Given the description of an element on the screen output the (x, y) to click on. 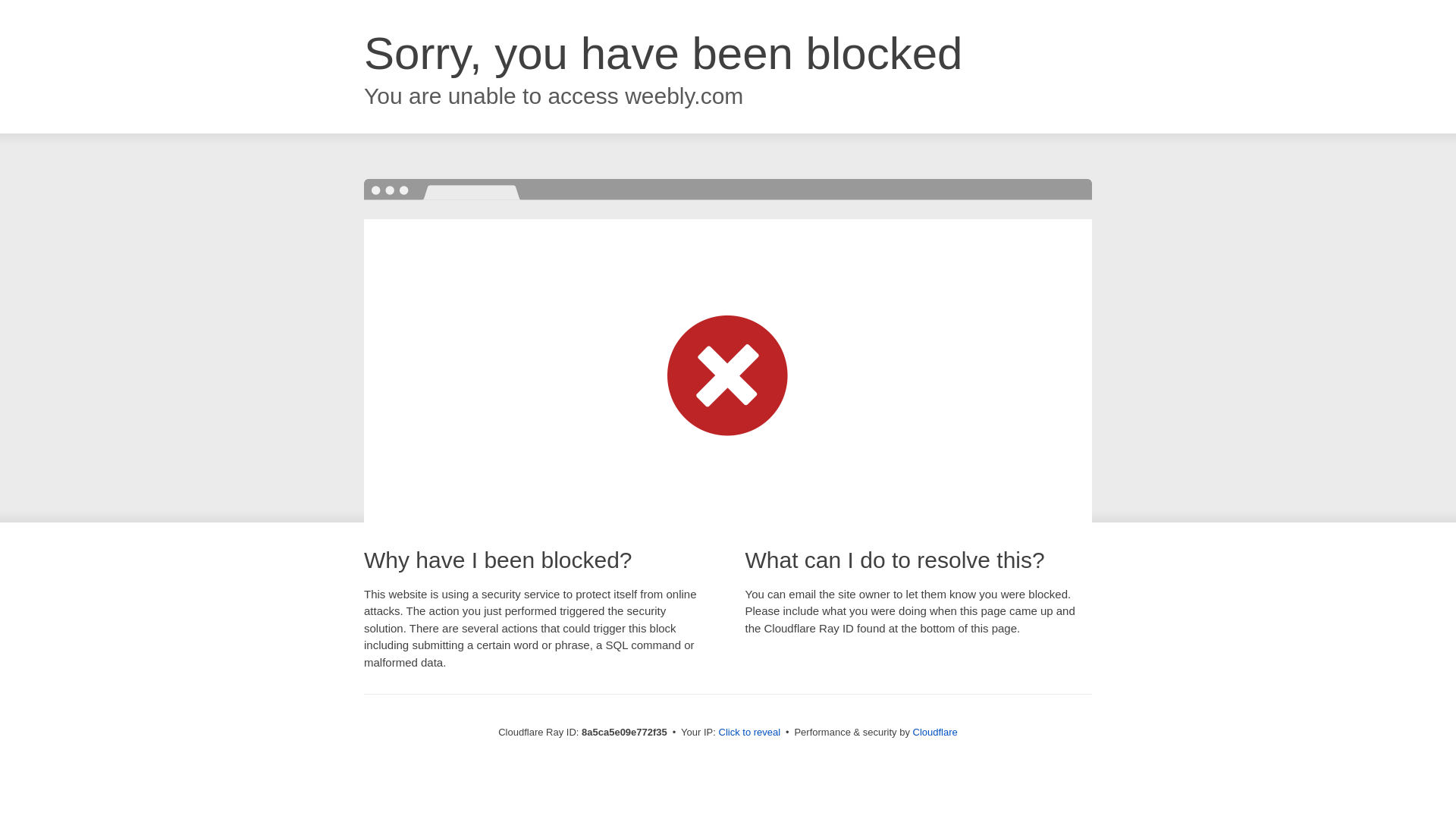
Cloudflare (935, 731)
Click to reveal (749, 732)
